Given the description of an element on the screen output the (x, y) to click on. 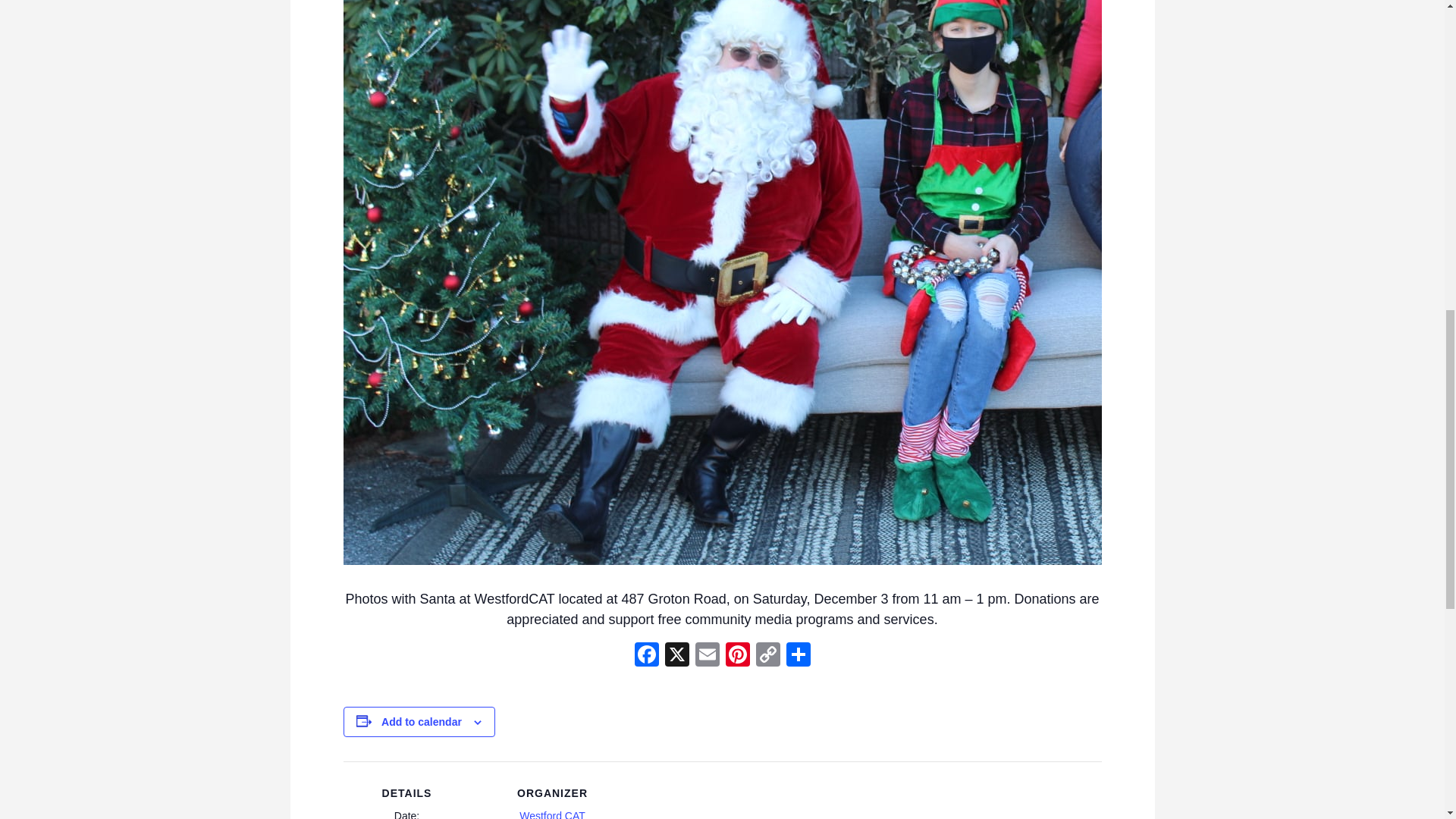
X (676, 656)
Pinterest (737, 656)
Facebook (645, 656)
Email (706, 656)
Email (706, 656)
Westford CAT (552, 814)
Facebook (645, 656)
Add to calendar (421, 721)
X (676, 656)
Copy Link (767, 656)
Westford CAT (552, 814)
Pinterest (737, 656)
Copy Link (767, 656)
